Given the description of an element on the screen output the (x, y) to click on. 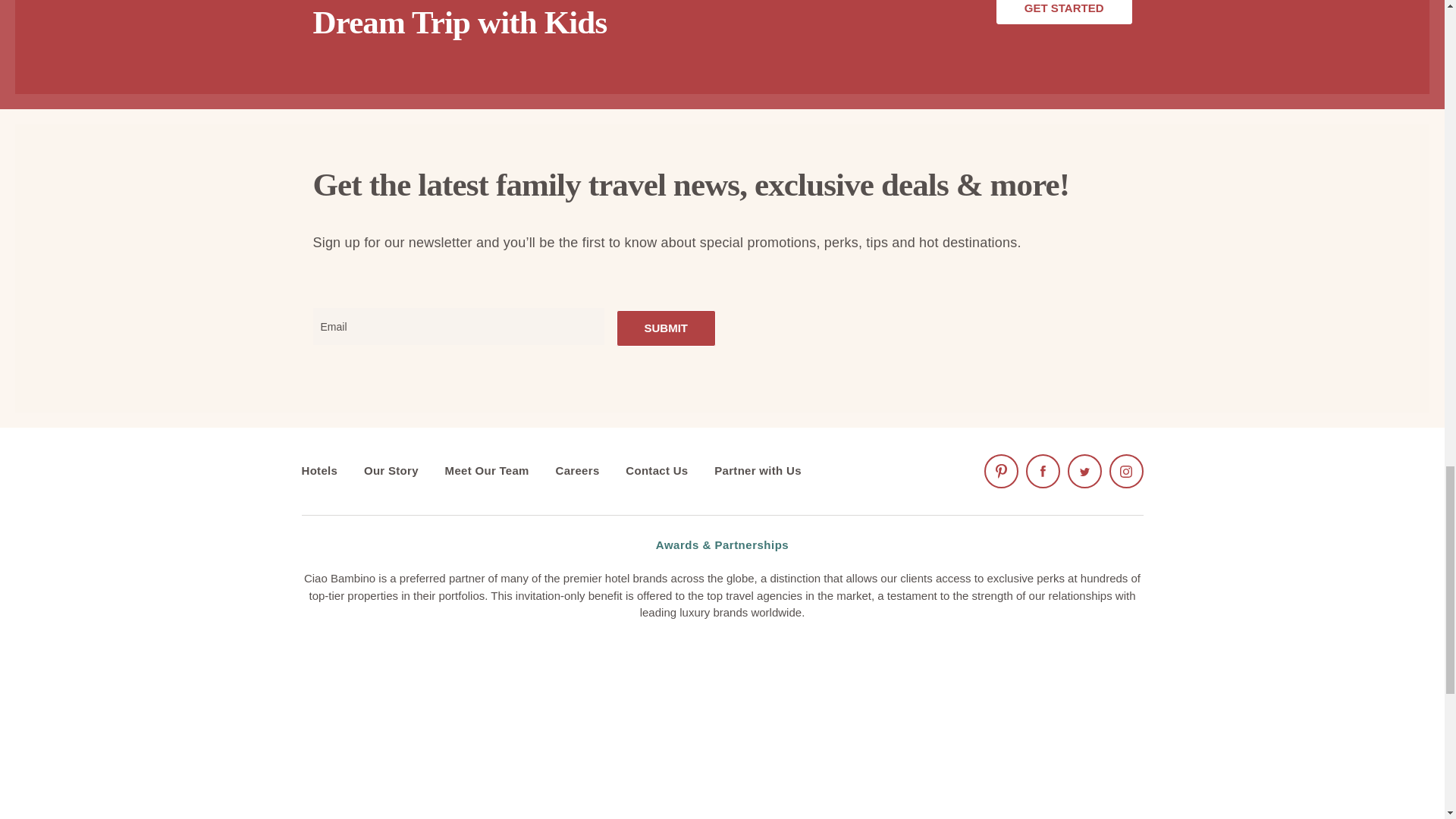
Submit (665, 328)
Get Started (1063, 12)
